Given the description of an element on the screen output the (x, y) to click on. 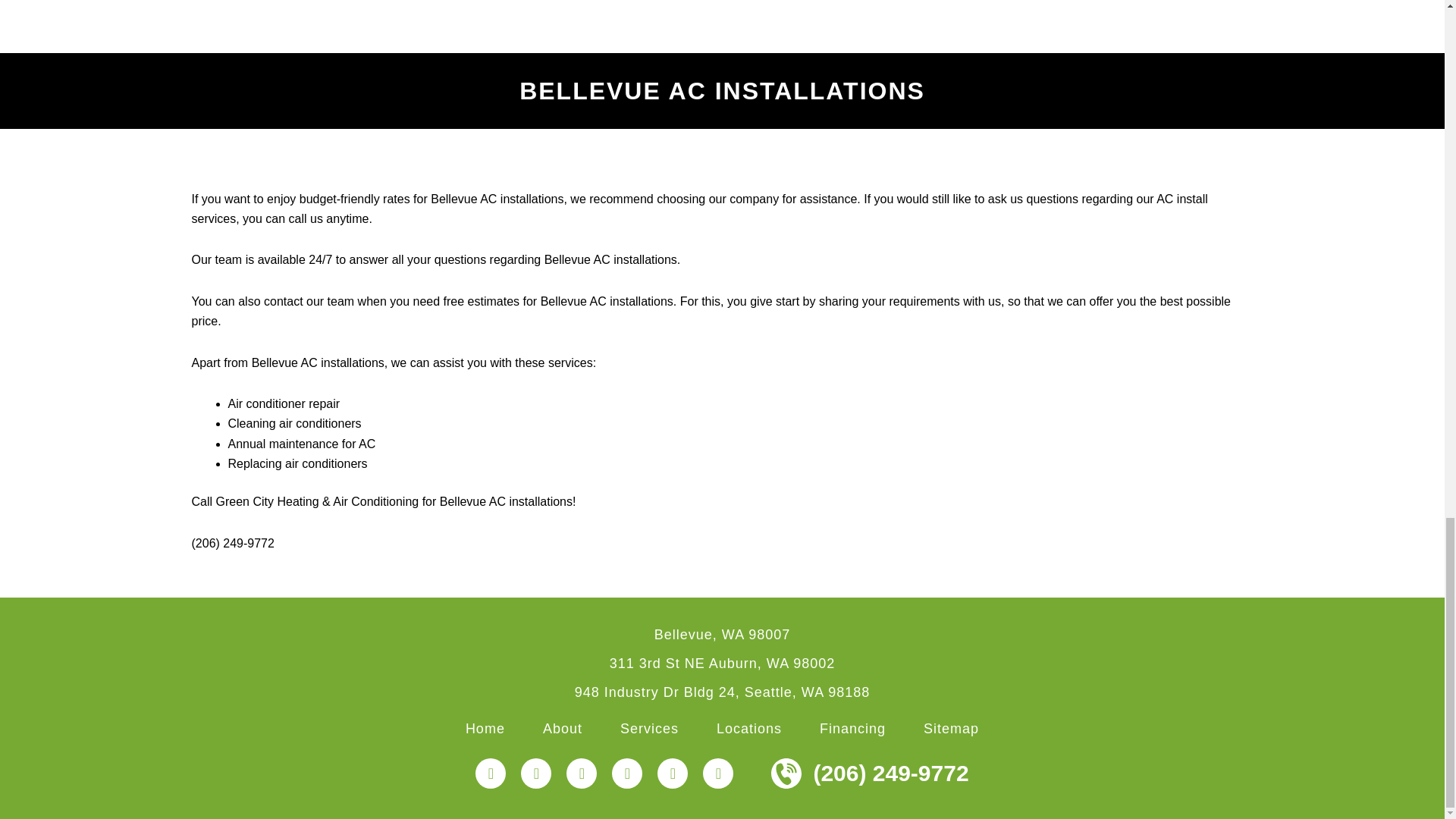
948 Industry Dr Bldg 24, Seattle, WA 98188 (722, 692)
About (562, 728)
Services (649, 728)
Home (485, 728)
311 3rd St NE Auburn, WA 98002 (722, 663)
Locations (748, 728)
Bellevue, WA 98007 (721, 634)
